Given the description of an element on the screen output the (x, y) to click on. 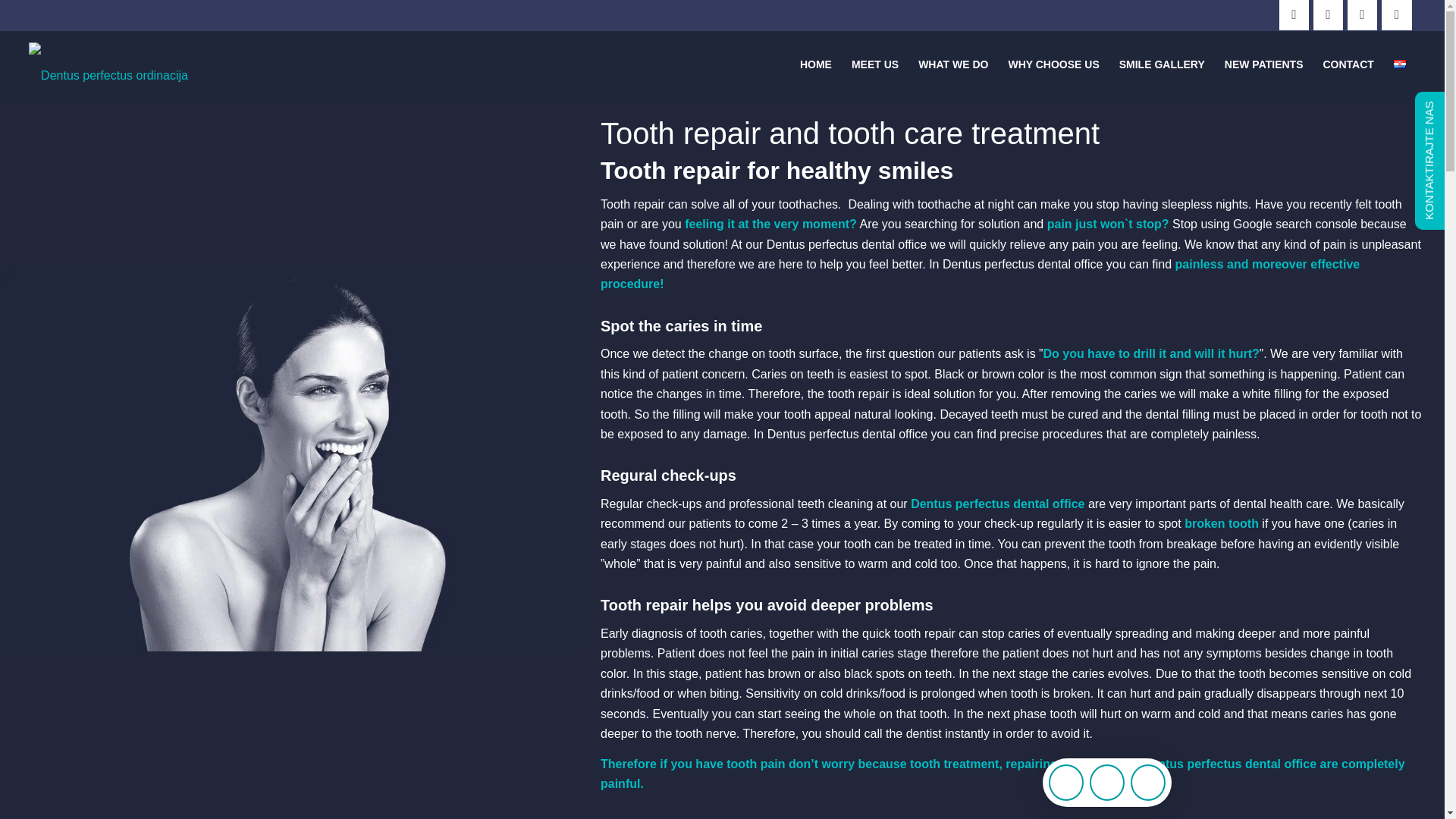
MEET US (874, 64)
Facebook (1293, 15)
WHY CHOOSE US (1052, 64)
Twitter (1362, 15)
Youtube (1396, 15)
CONTACT (1348, 64)
Instagram (1327, 15)
SMILE GALLERY (1161, 64)
WHAT WE DO (952, 64)
NEW PATIENTS (1263, 64)
